Given the description of an element on the screen output the (x, y) to click on. 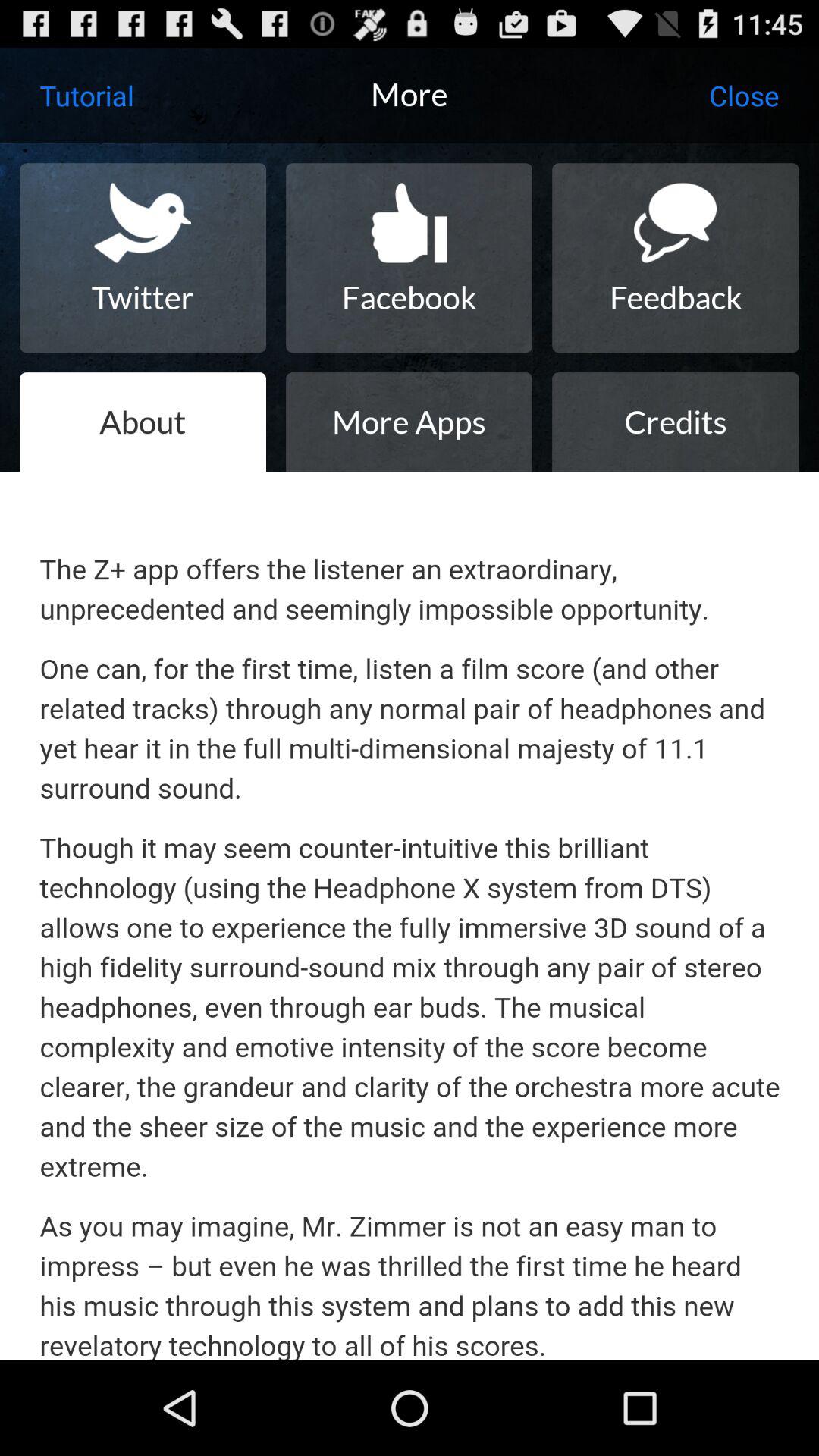
turn off twitter (142, 257)
